Given the description of an element on the screen output the (x, y) to click on. 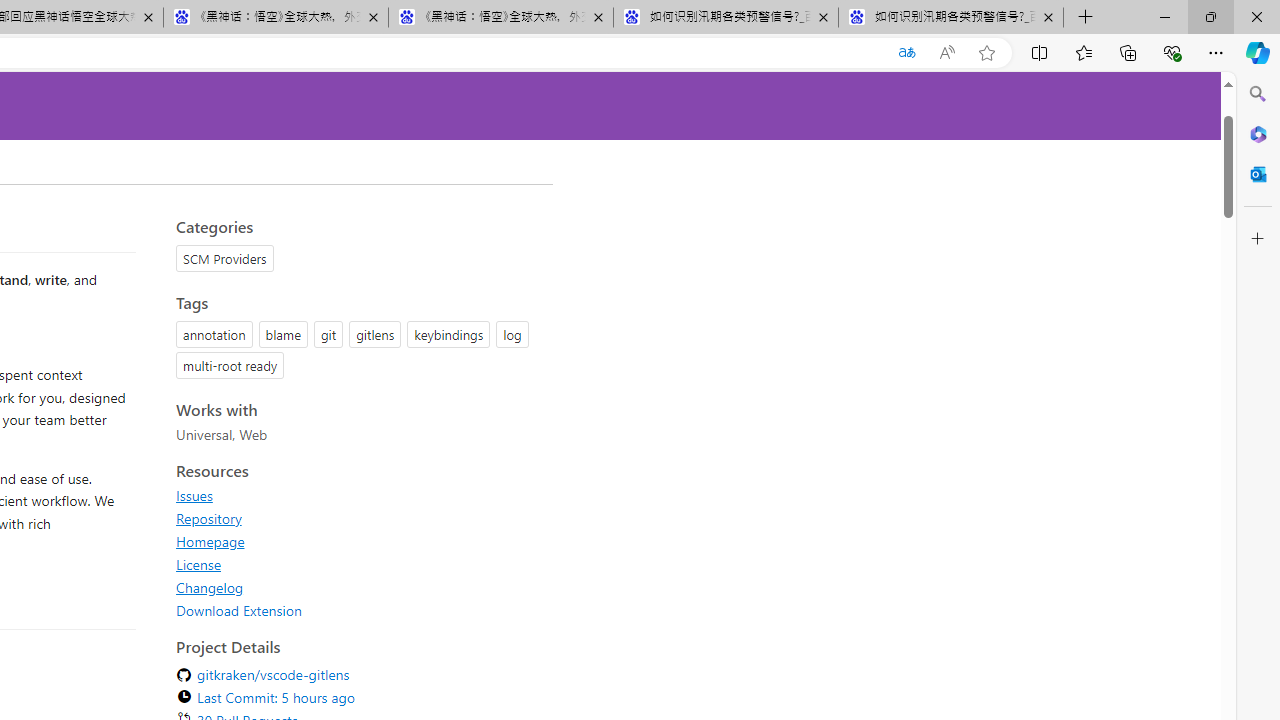
Download Extension (239, 610)
Repository (208, 518)
